Given the description of an element on the screen output the (x, y) to click on. 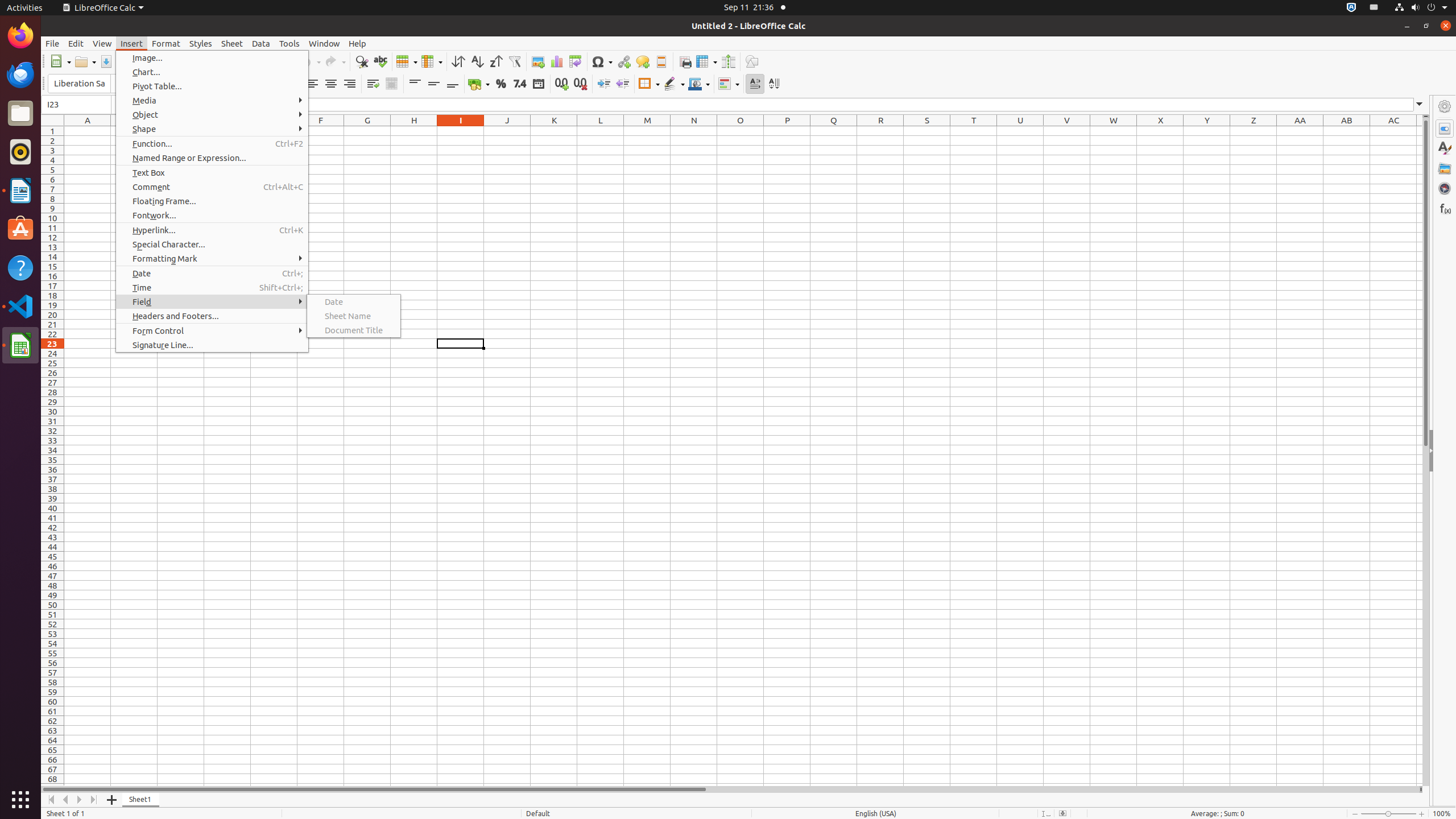
Wrap Text Element type: push-button (372, 83)
Y1 Element type: table-cell (1206, 130)
Activities Element type: label (24, 7)
Redo Element type: push-button (334, 61)
